Given the description of an element on the screen output the (x, y) to click on. 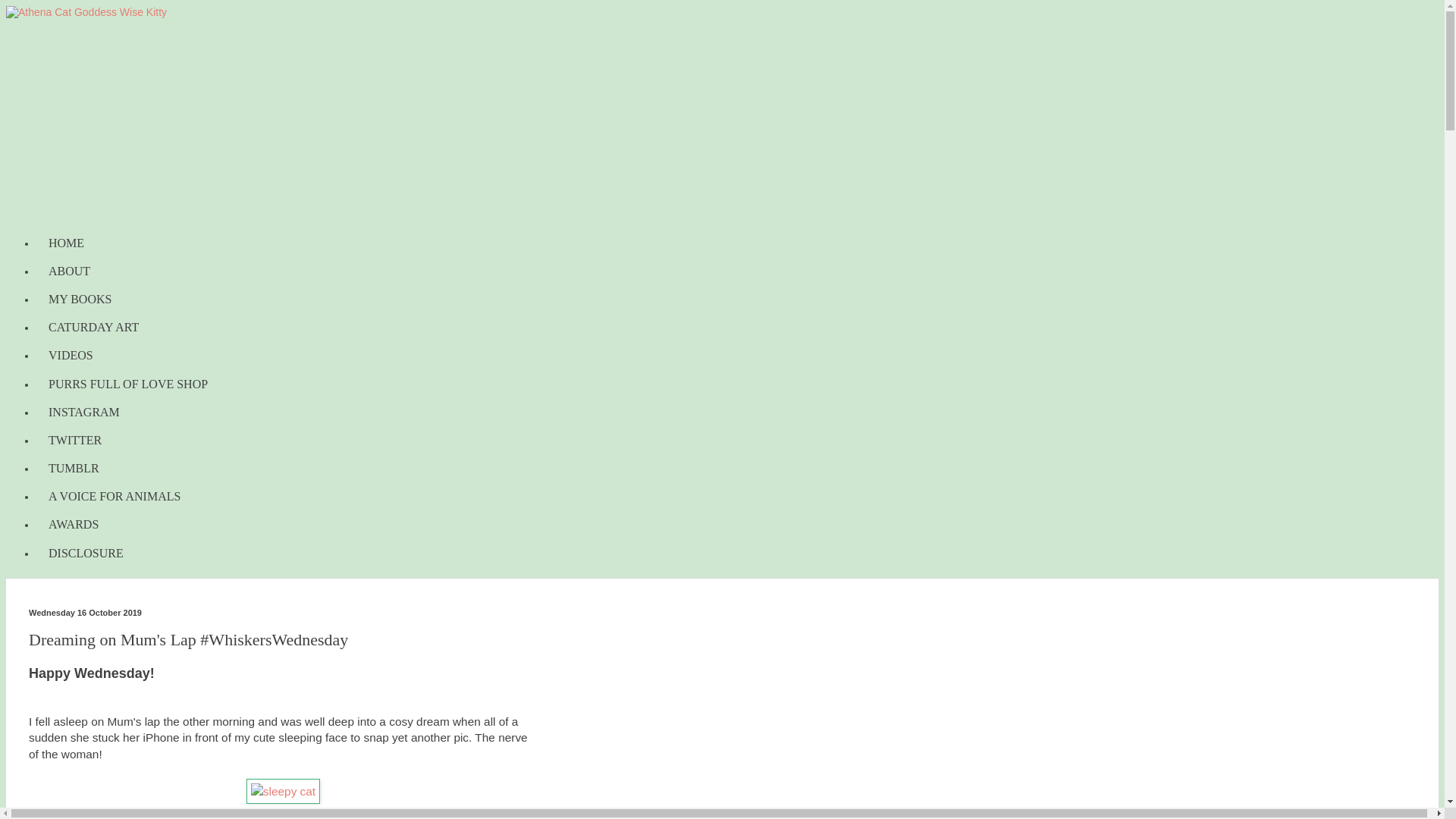
DISCLOSURE (85, 552)
A VOICE FOR ANIMALS (114, 497)
HOME (66, 243)
TWITTER (74, 439)
AWARDS (73, 524)
PURRS FULL OF LOVE SHOP (127, 384)
INSTAGRAM (84, 411)
MY BOOKS (79, 298)
VIDEOS (70, 356)
Wordless Whiskers Wednesday (283, 791)
ABOUT (68, 271)
TUMBLR (74, 469)
CATURDAY ART (93, 327)
